Given the description of an element on the screen output the (x, y) to click on. 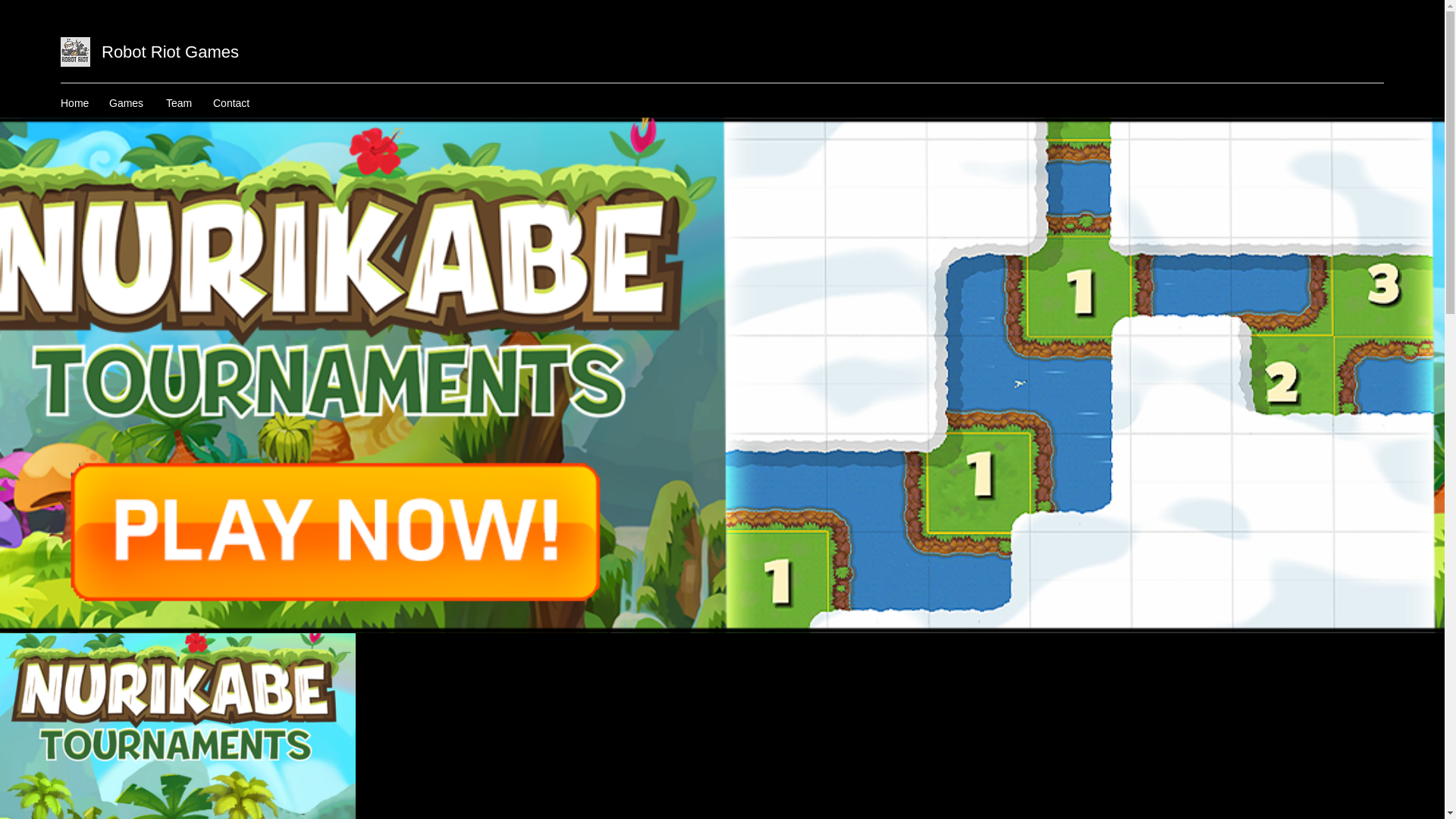
Games (129, 102)
Team (181, 102)
Home (76, 102)
Contact (234, 102)
Robot Riot Games (169, 51)
